Given the description of an element on the screen output the (x, y) to click on. 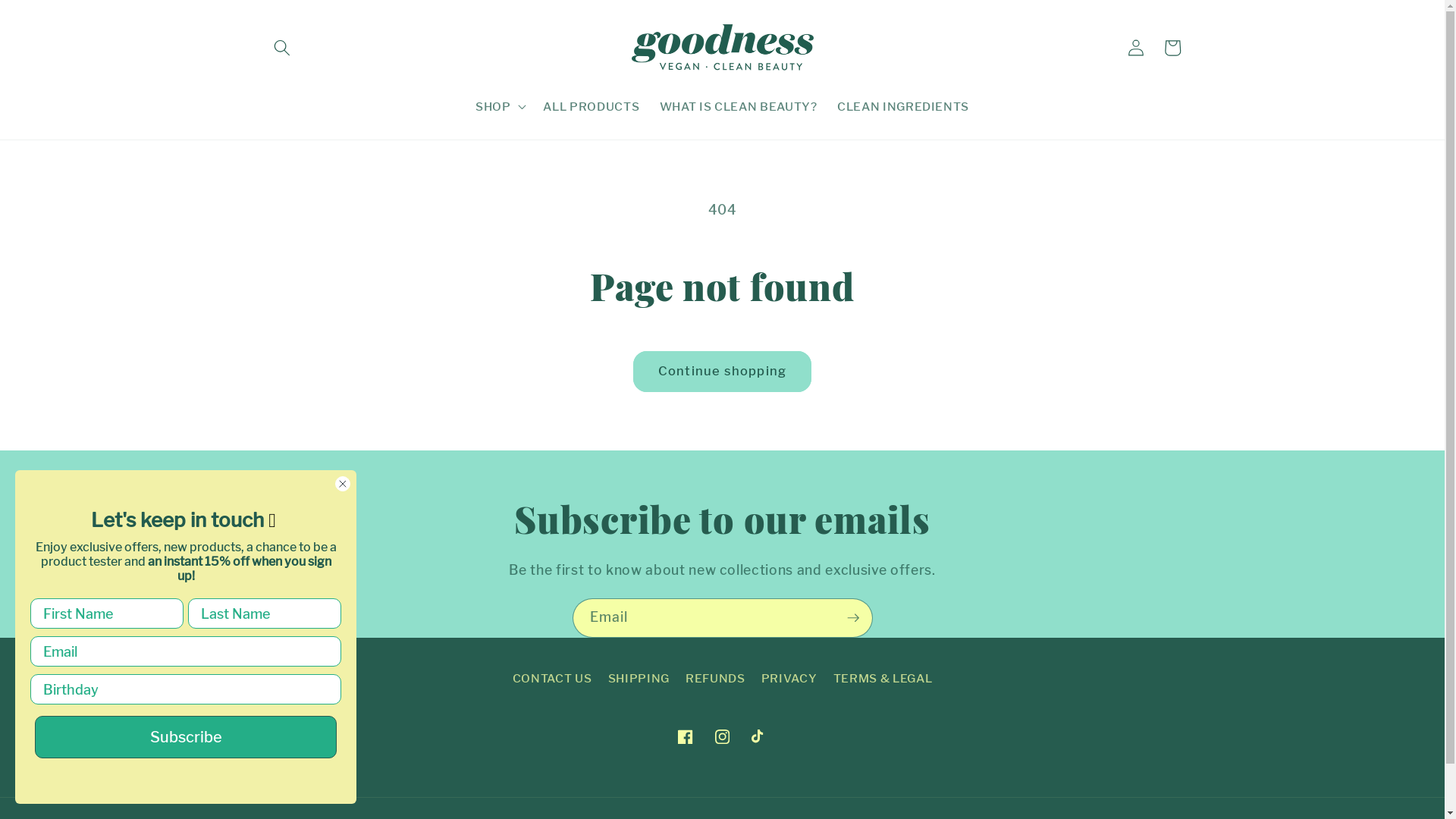
Cart Element type: text (1172, 47)
CLEAN INGREDIENTS Element type: text (903, 106)
SHIPPING Element type: text (638, 679)
Subscribe Element type: text (185, 736)
TERMS & LEGAL Element type: text (882, 679)
TikTok Element type: text (758, 736)
Facebook Element type: text (685, 736)
PRIVACY Element type: text (789, 679)
Close dialog 1 Element type: text (342, 483)
CONTACT US Element type: text (552, 680)
WHAT IS CLEAN BEAUTY? Element type: text (737, 106)
Submit Element type: text (21, 7)
Instagram Element type: text (721, 736)
REFUNDS Element type: text (715, 679)
Continue shopping Element type: text (722, 371)
ALL PRODUCTS Element type: text (591, 106)
Log in Element type: text (1135, 47)
